Given the description of an element on the screen output the (x, y) to click on. 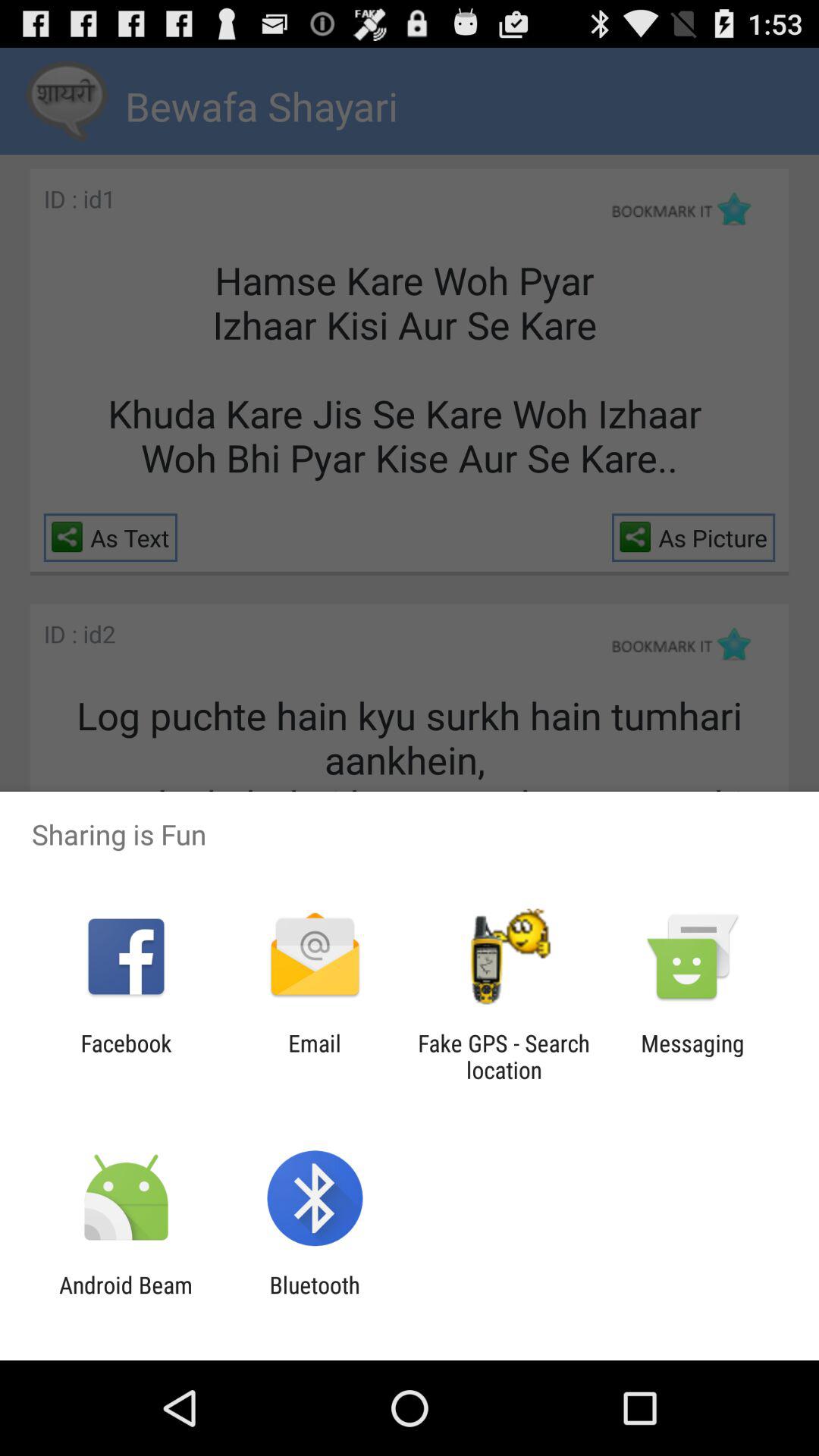
press the item to the left of fake gps search icon (314, 1056)
